Given the description of an element on the screen output the (x, y) to click on. 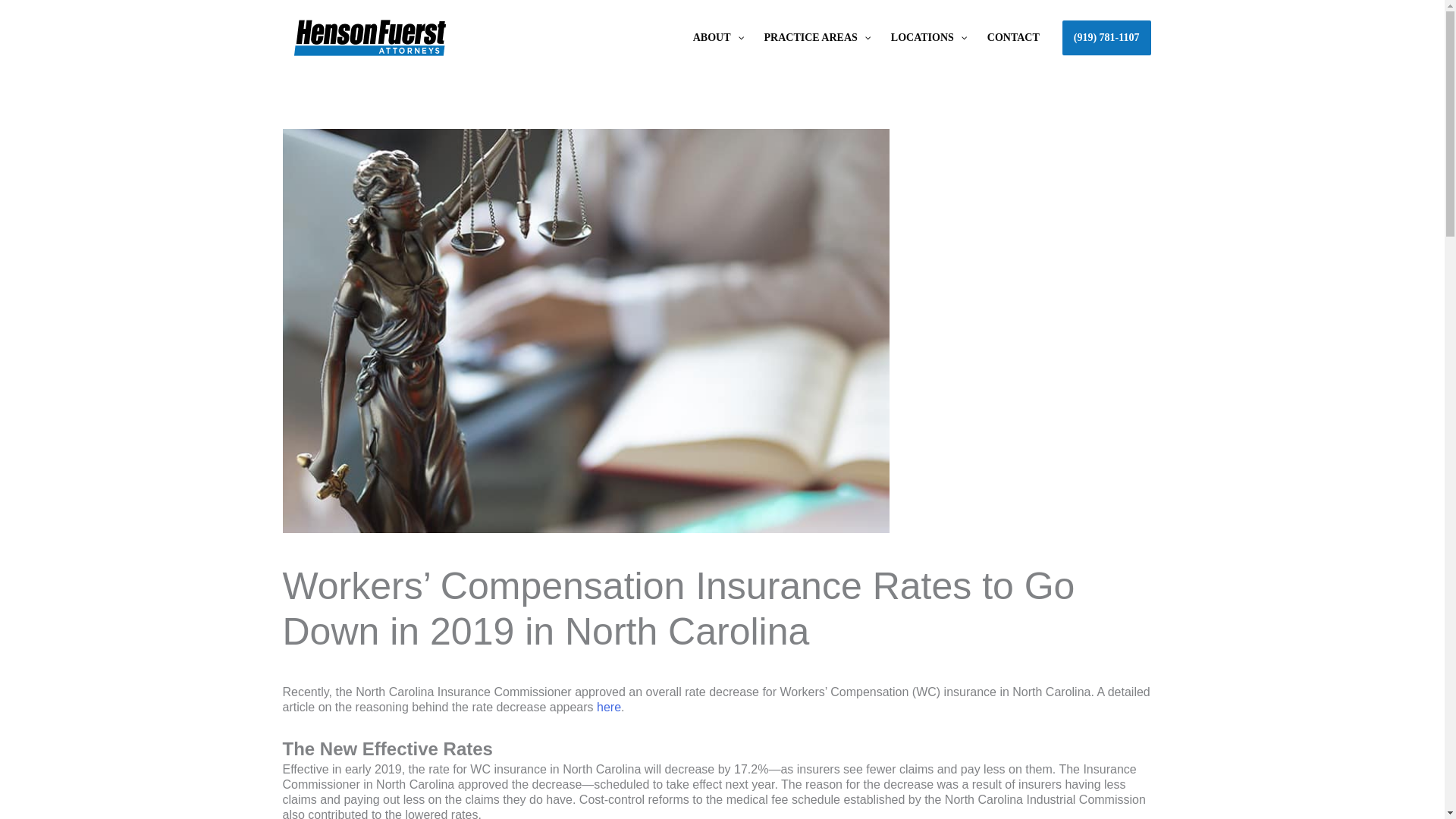
LOCATIONS (927, 37)
CONTACT (1013, 37)
PRACTICE AREAS (815, 37)
ABOUT (716, 37)
